Given the description of an element on the screen output the (x, y) to click on. 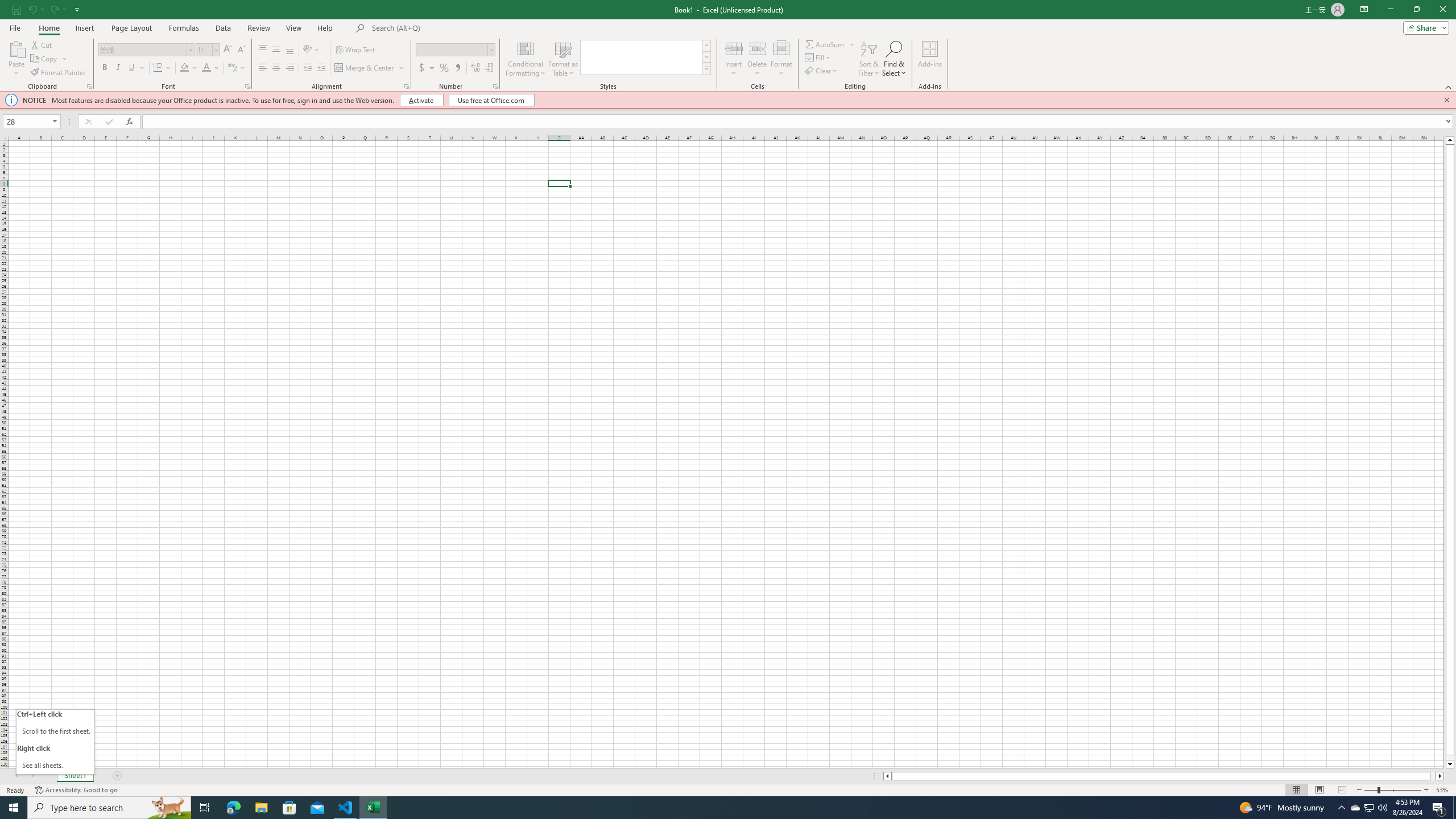
Scroll Left (16, 775)
More Options (852, 44)
Decrease Decimal (489, 67)
Show Phonetic Field (231, 67)
Name Box (30, 121)
Accessibility Checker Accessibility: Good to go (76, 790)
Row Down (705, 56)
Font Color (210, 67)
Normal (1296, 790)
Fill (818, 56)
Activate (422, 100)
Format (781, 58)
Decrease Font Size (240, 49)
Column right (1440, 775)
Increase Font Size (227, 49)
